Given the description of an element on the screen output the (x, y) to click on. 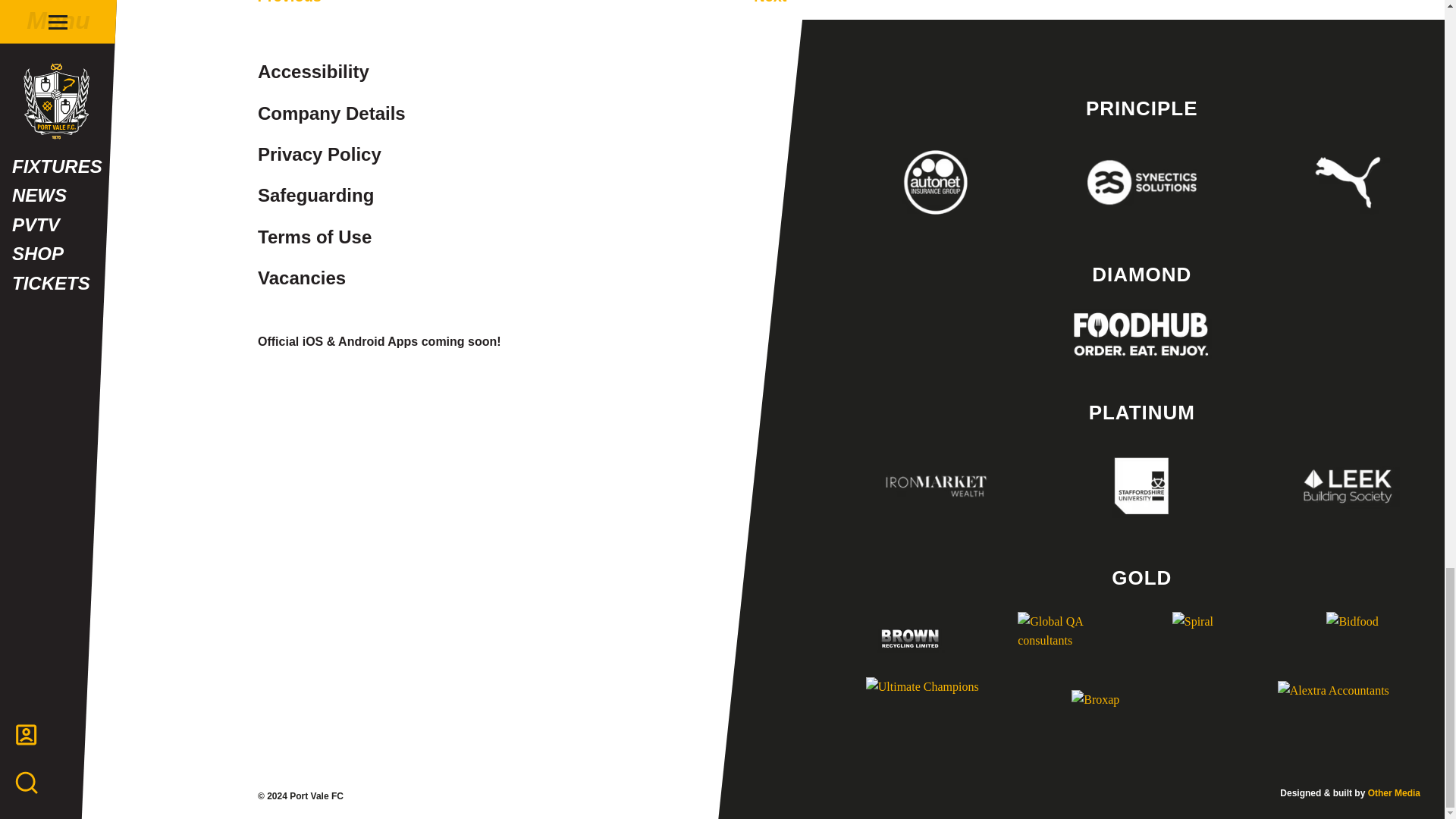
Autonet (936, 181)
Foodhub (1141, 334)
Puma (1348, 181)
Staffordshire Uni (1141, 485)
Synectics (1141, 181)
Ironmarket (936, 485)
